Given the description of an element on the screen output the (x, y) to click on. 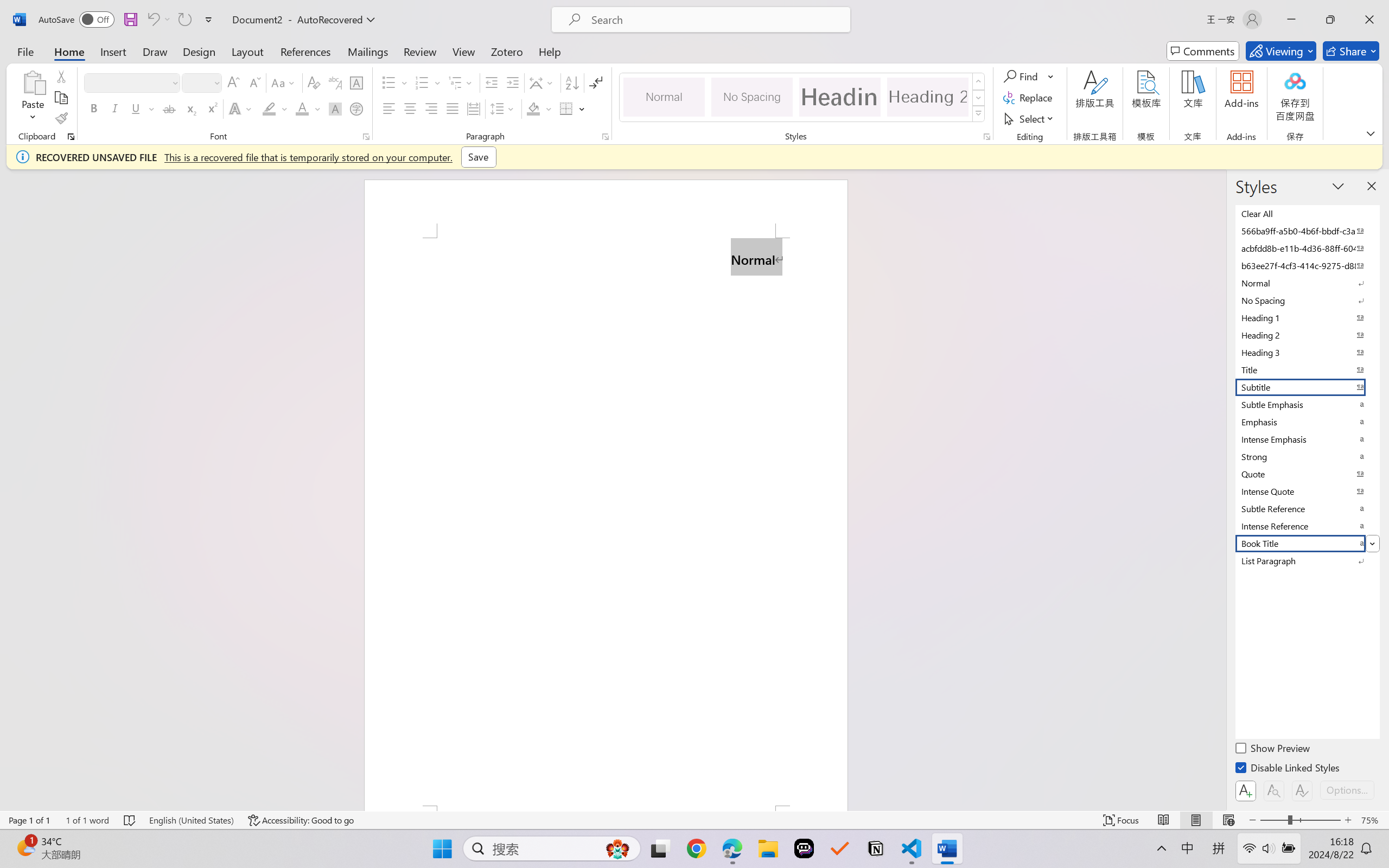
Strikethrough (169, 108)
Font... (365, 136)
Select (1030, 118)
Align Left (388, 108)
Quote (1306, 473)
Text Highlight Color (274, 108)
List Paragraph (1306, 560)
Page 1 content (605, 521)
Can't Undo (152, 19)
